Given the description of an element on the screen output the (x, y) to click on. 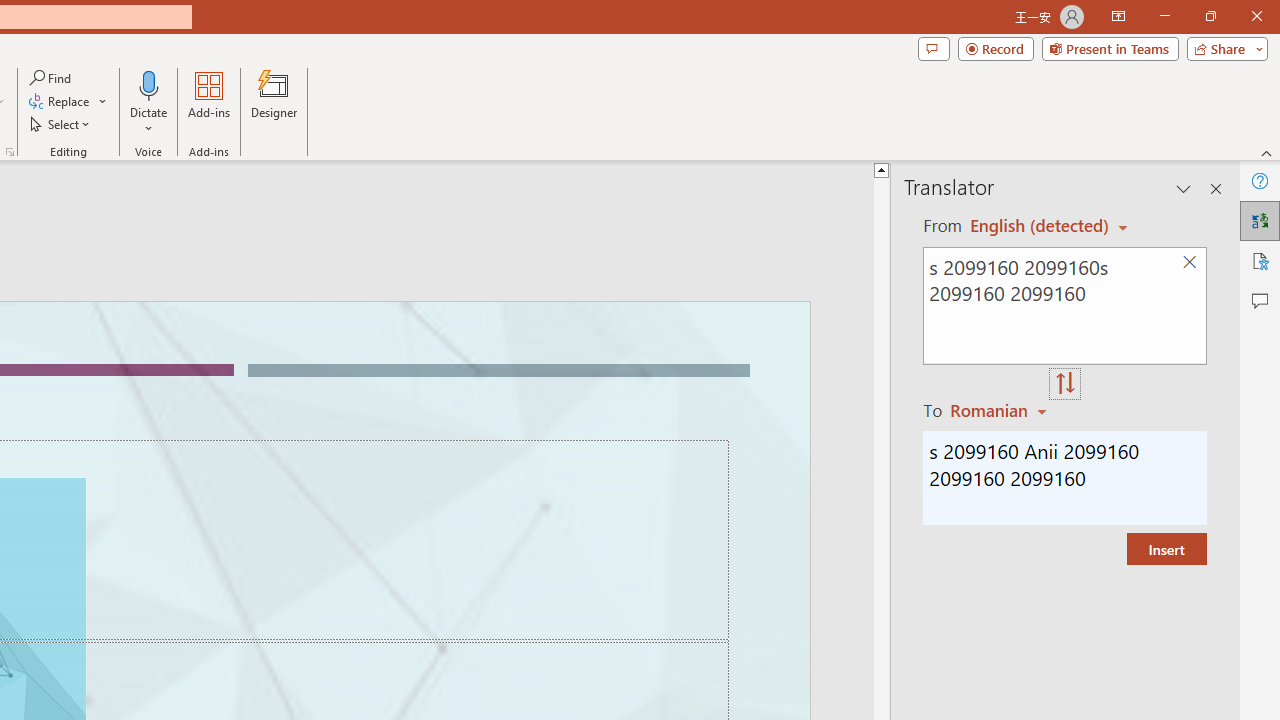
Replace... (60, 101)
Translator (1260, 220)
Find... (51, 78)
Line up (911, 169)
